Given the description of an element on the screen output the (x, y) to click on. 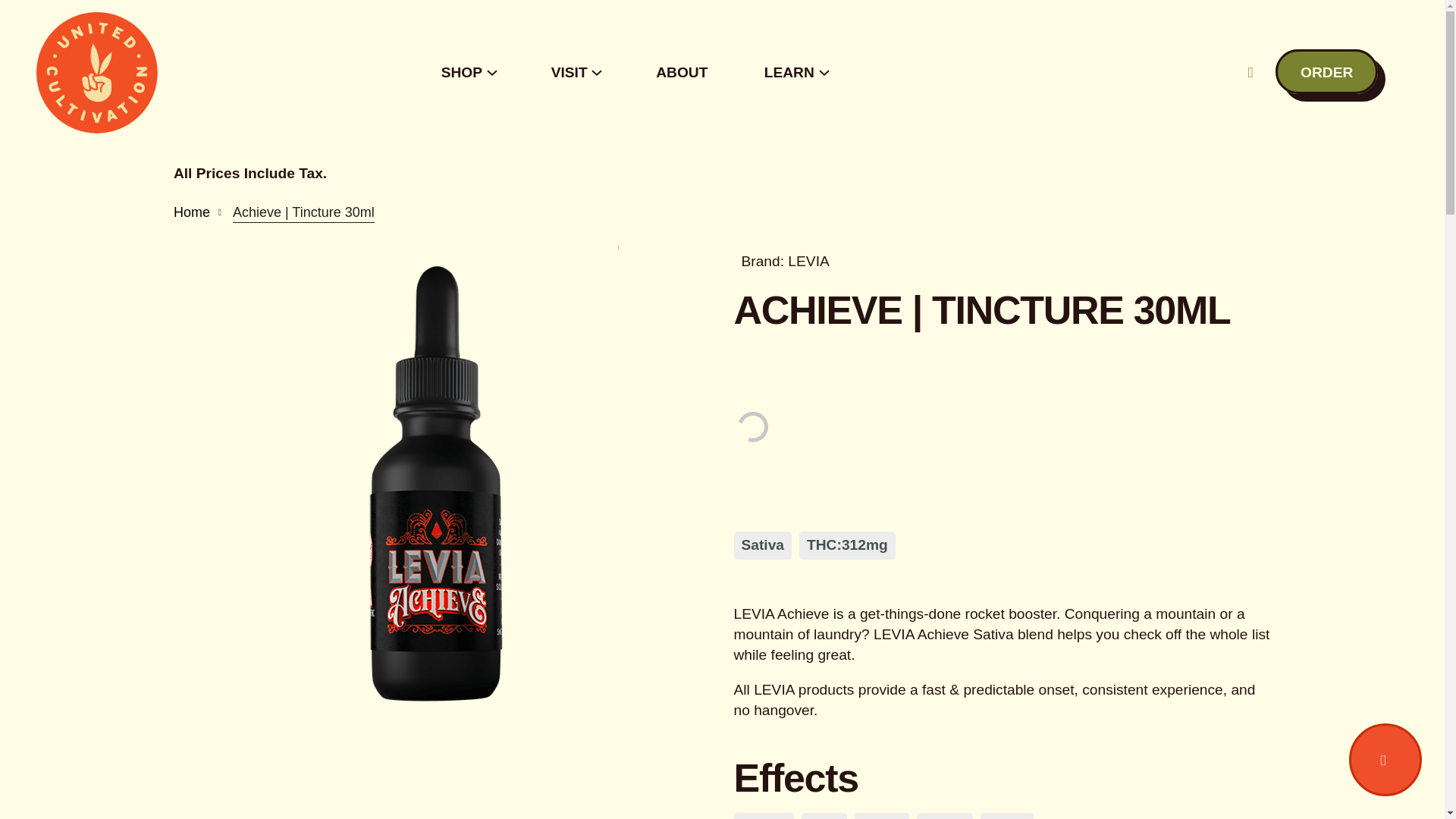
ABOUT (681, 73)
ORDER (1326, 71)
Home (191, 212)
LEARN (788, 73)
VISIT (569, 73)
SHOP (461, 73)
Open Cart (1385, 759)
